Given the description of an element on the screen output the (x, y) to click on. 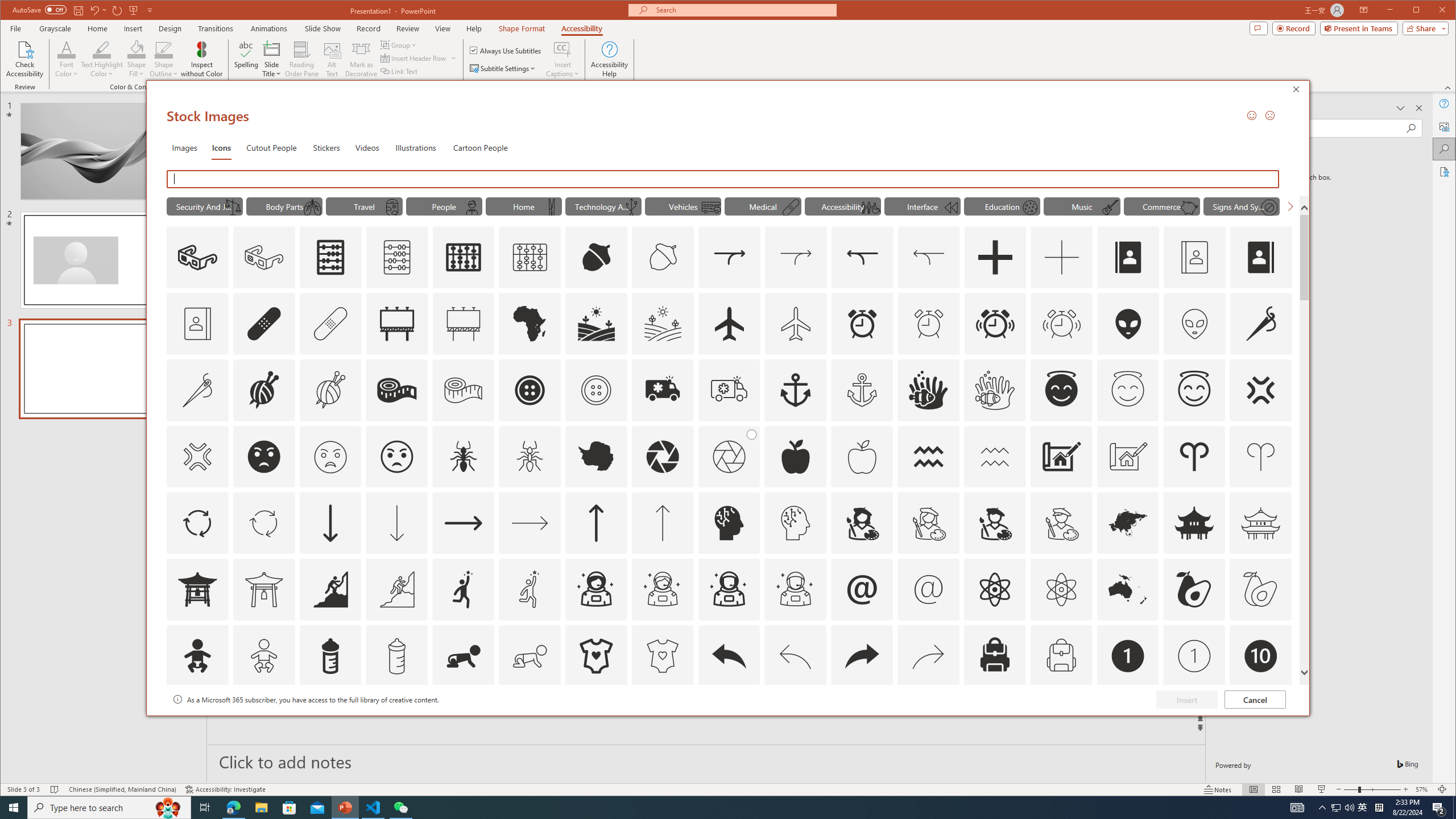
AutomationID: Icons_AlterationsTailoring2_M (462, 389)
AutomationID: Icons_Aries (1193, 456)
AutomationID: Icons_Avocado (1193, 589)
AutomationID: Icons_Acorn (596, 256)
Close pane (1418, 107)
AutomationID: Icons_Badge4_M (595, 721)
Q2790: 100% (1349, 807)
